Given the description of an element on the screen output the (x, y) to click on. 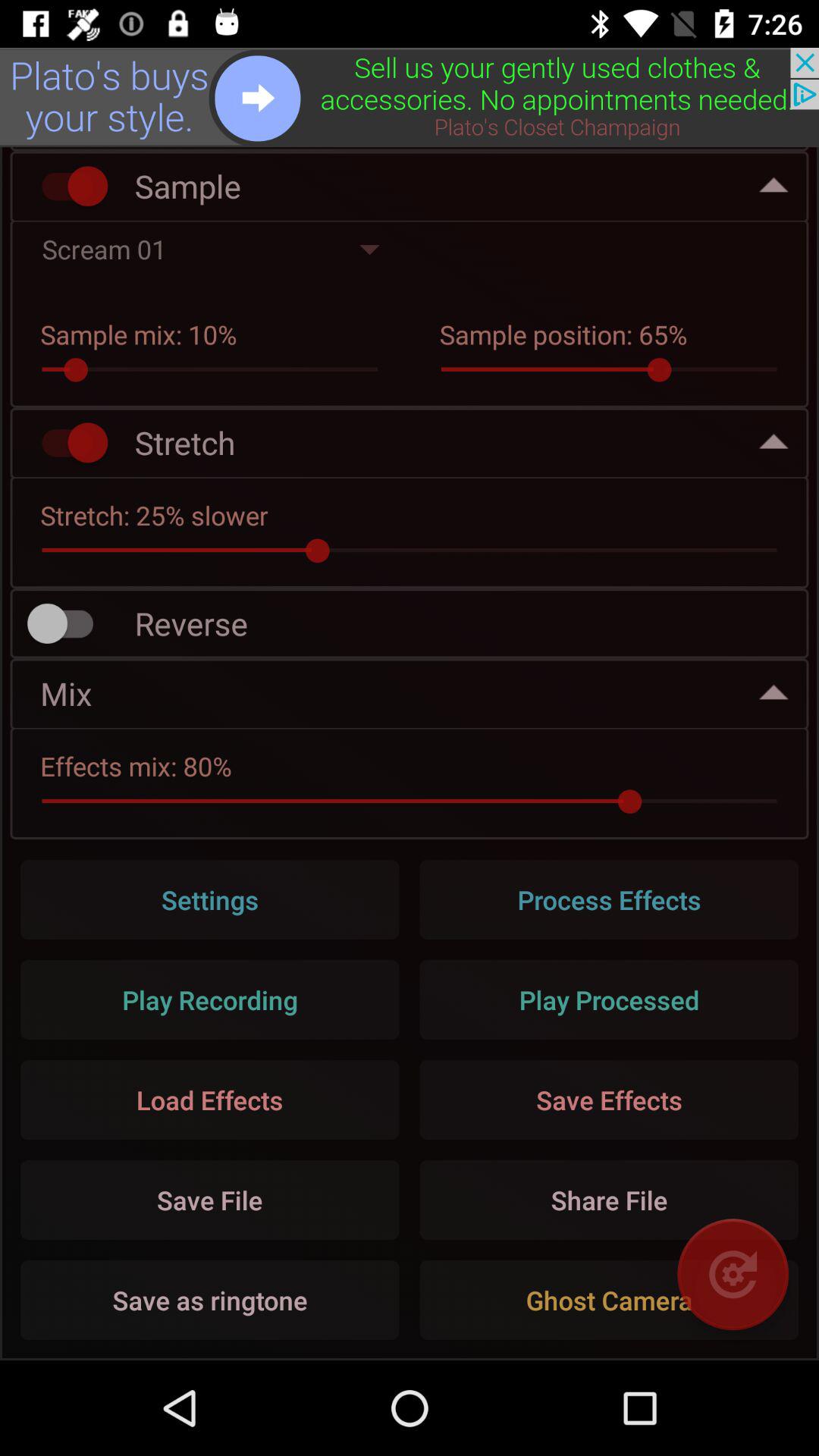
switch autoplay option (67, 186)
